Given the description of an element on the screen output the (x, y) to click on. 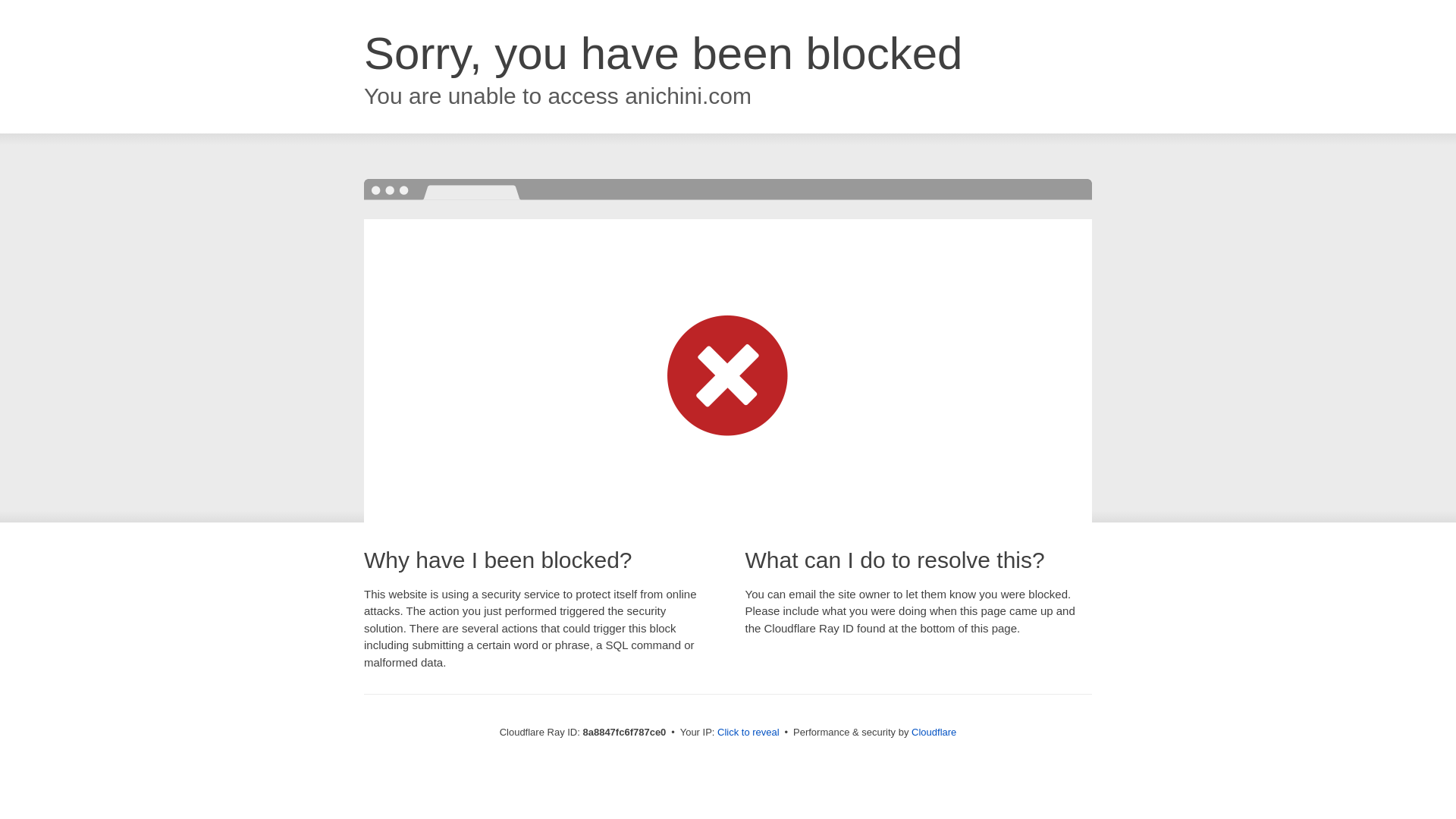
Click to reveal (747, 732)
Cloudflare (933, 731)
